Given the description of an element on the screen output the (x, y) to click on. 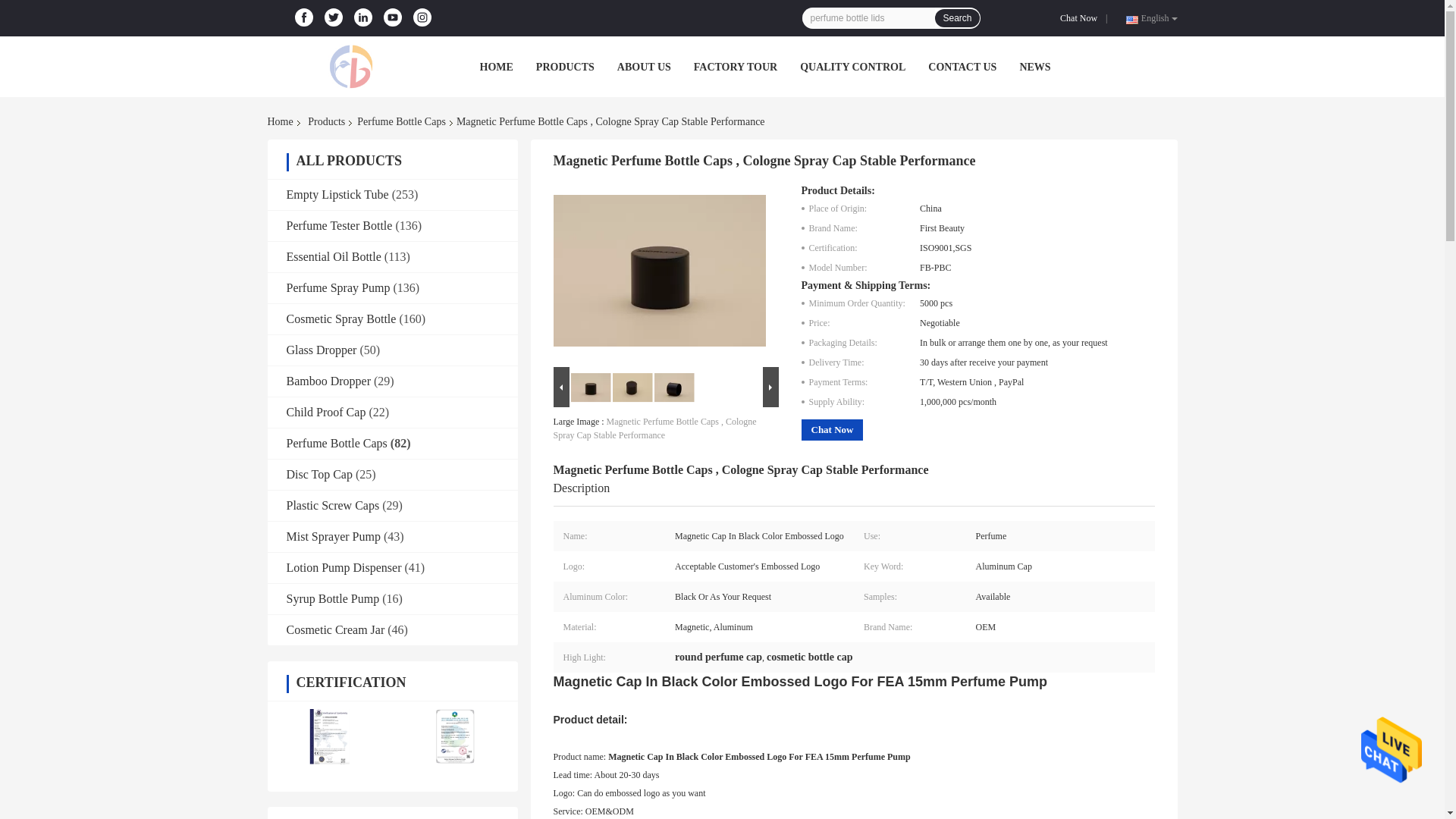
ABOUT US (644, 66)
PRODUCTS (564, 66)
NEWS (1034, 66)
FACTORY TOUR (735, 66)
Products (325, 121)
Chat Now (1081, 18)
Home (282, 121)
Jiangyin First Beauty Packing Industry Co.,ltd LinkedIn (362, 17)
CONTACT US (961, 66)
Jiangyin First Beauty Packing Industry Co.,ltd Instagram (421, 17)
